Given the description of an element on the screen output the (x, y) to click on. 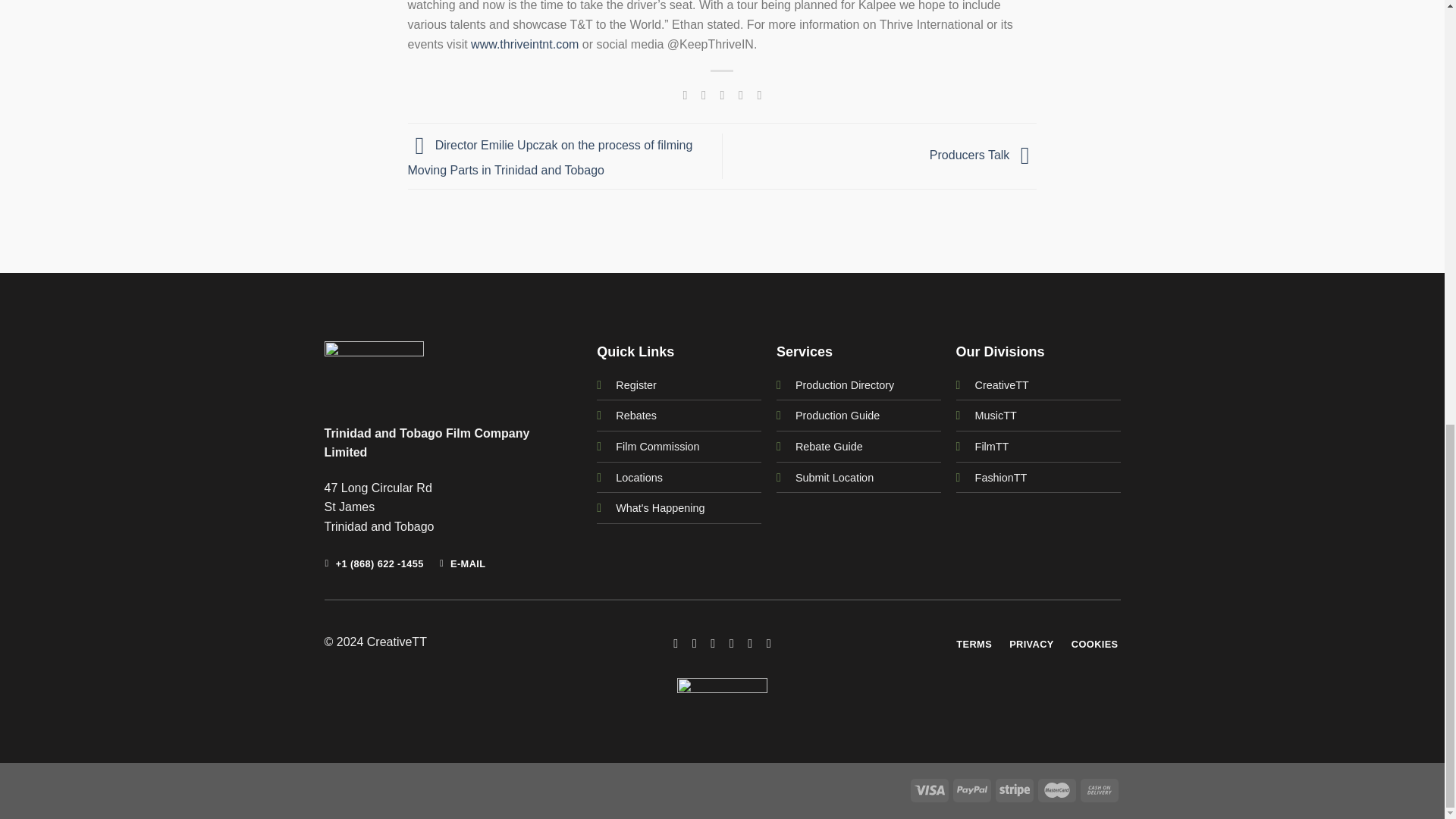
Pin on Pinterest (740, 94)
Email to a Friend (722, 94)
Share on Facebook (684, 94)
Share on Twitter (703, 94)
